Given the description of an element on the screen output the (x, y) to click on. 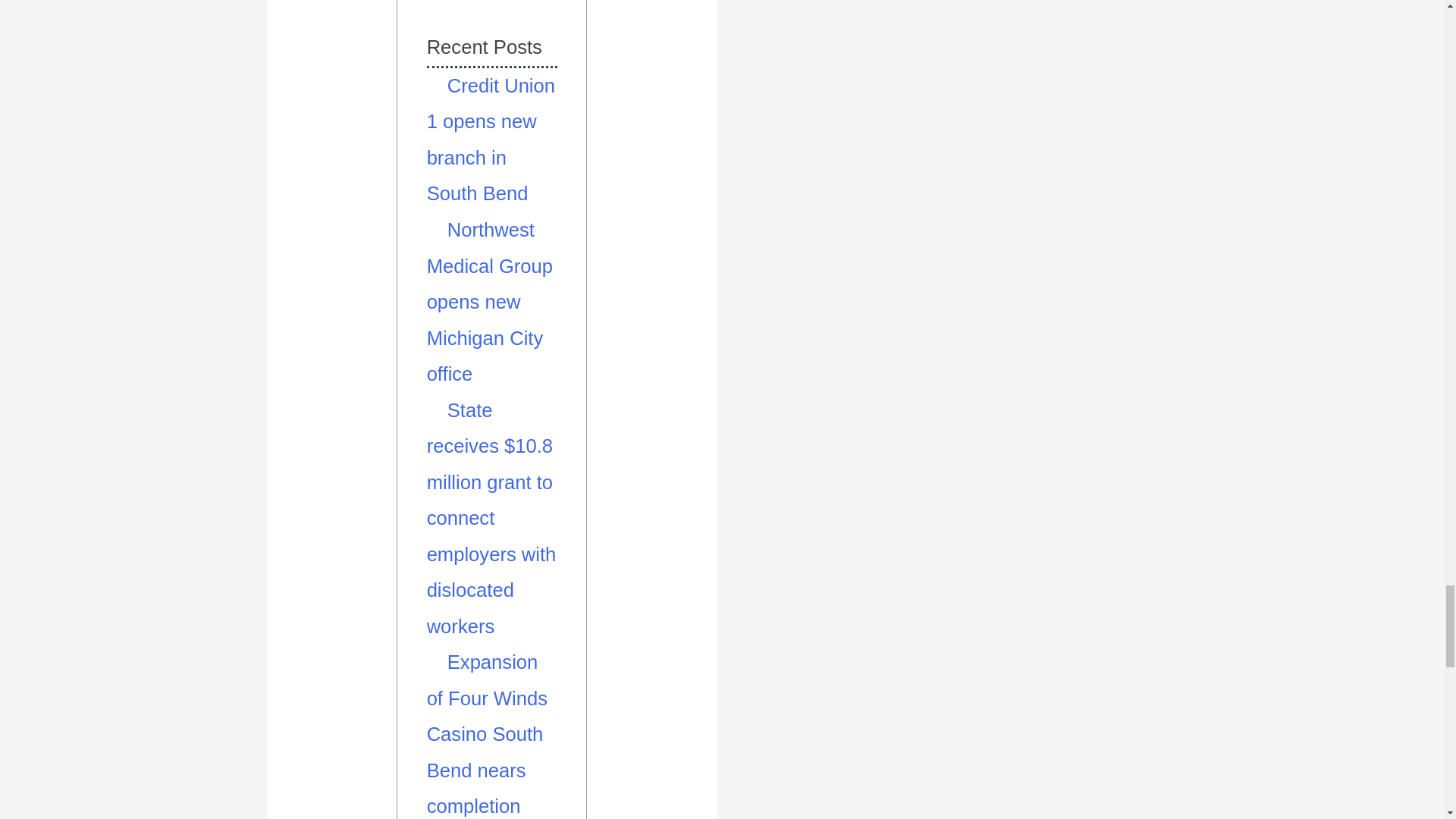
Credit Union 1 opens new branch in South Bend (490, 139)
